Given the description of an element on the screen output the (x, y) to click on. 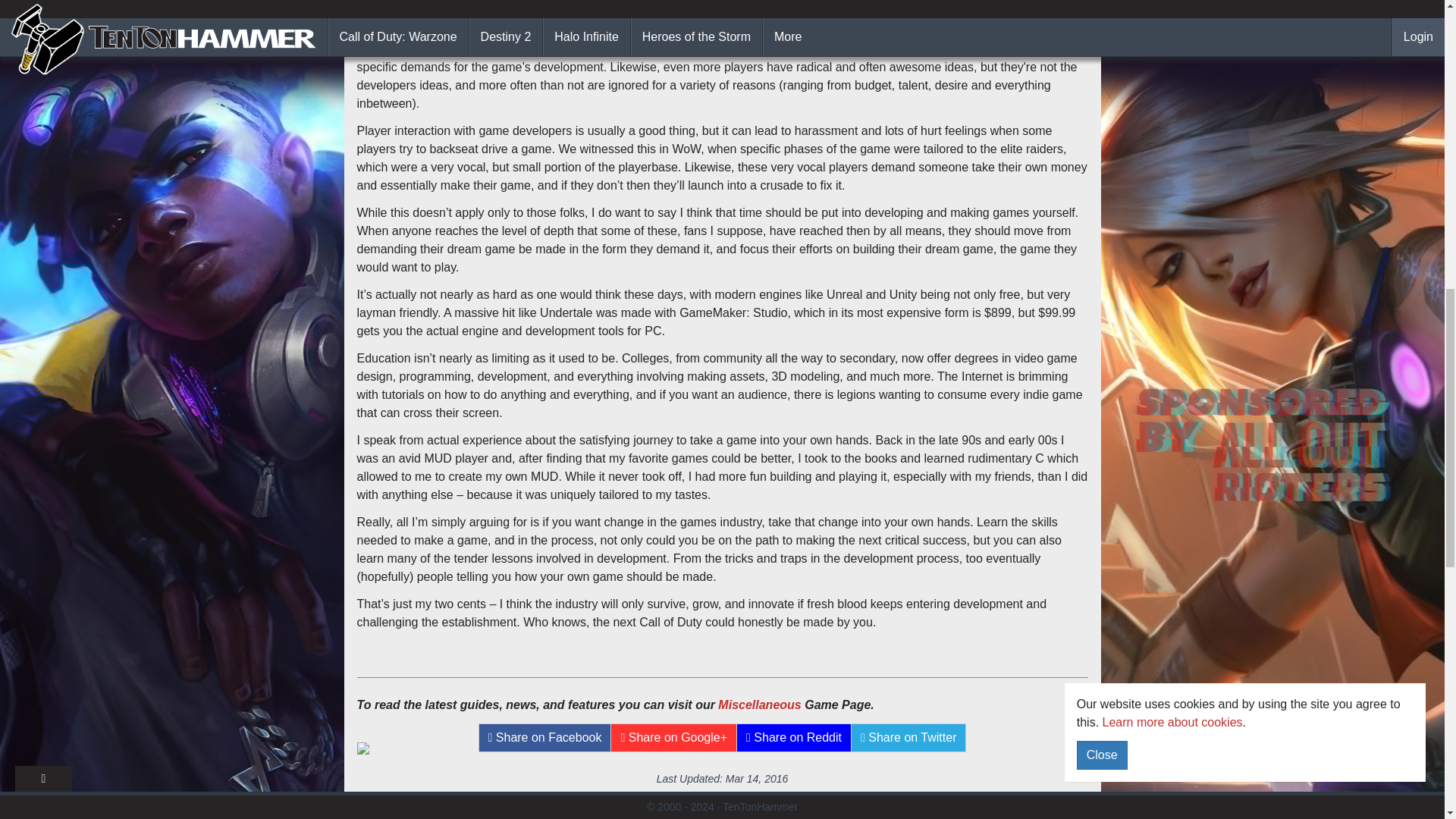
Share on Facebook (545, 737)
Share on Twitter (908, 737)
Miscellaneous (758, 704)
Share on Reddit (793, 737)
